Given the description of an element on the screen output the (x, y) to click on. 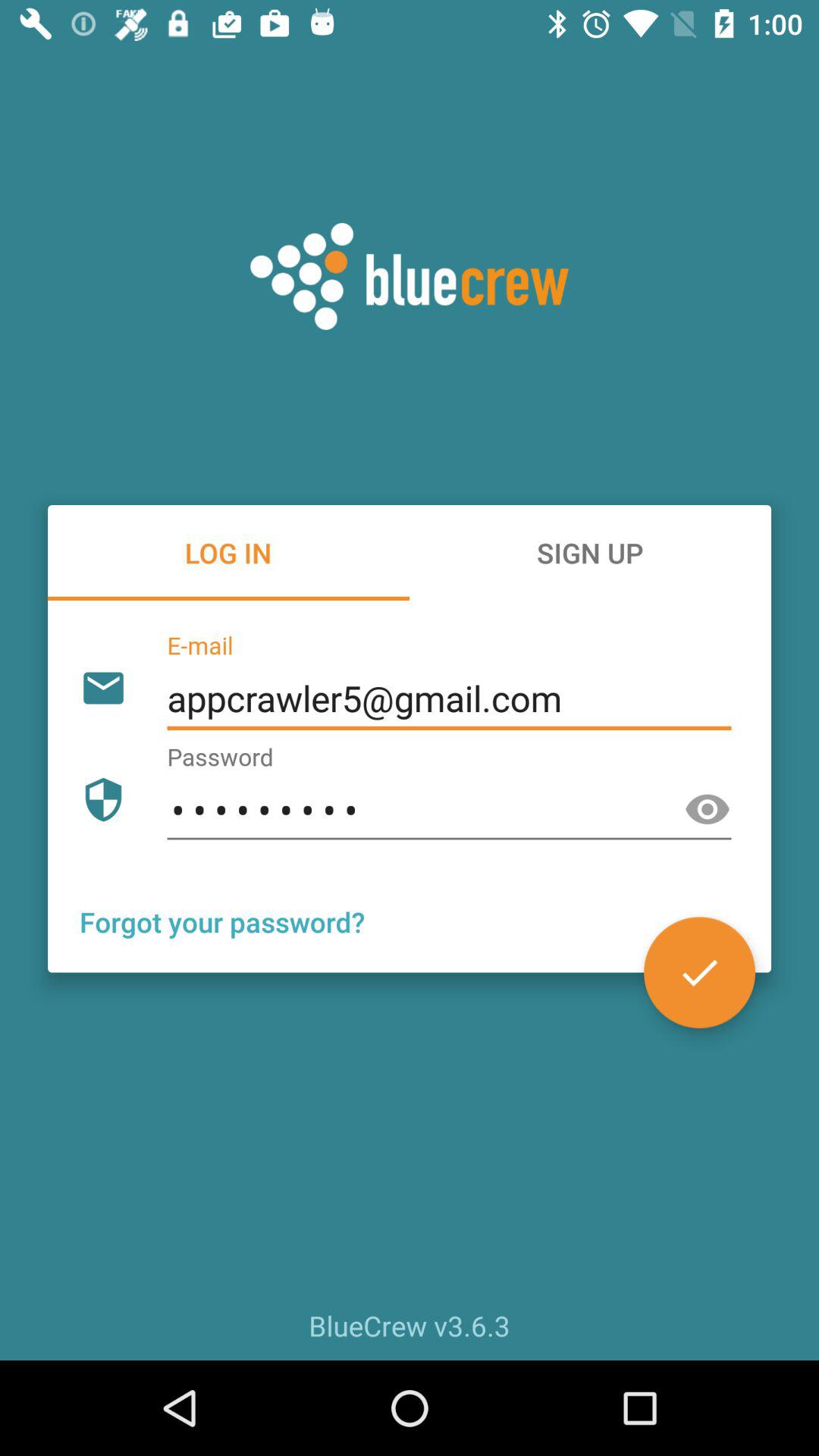
hide pasword (707, 809)
